Given the description of an element on the screen output the (x, y) to click on. 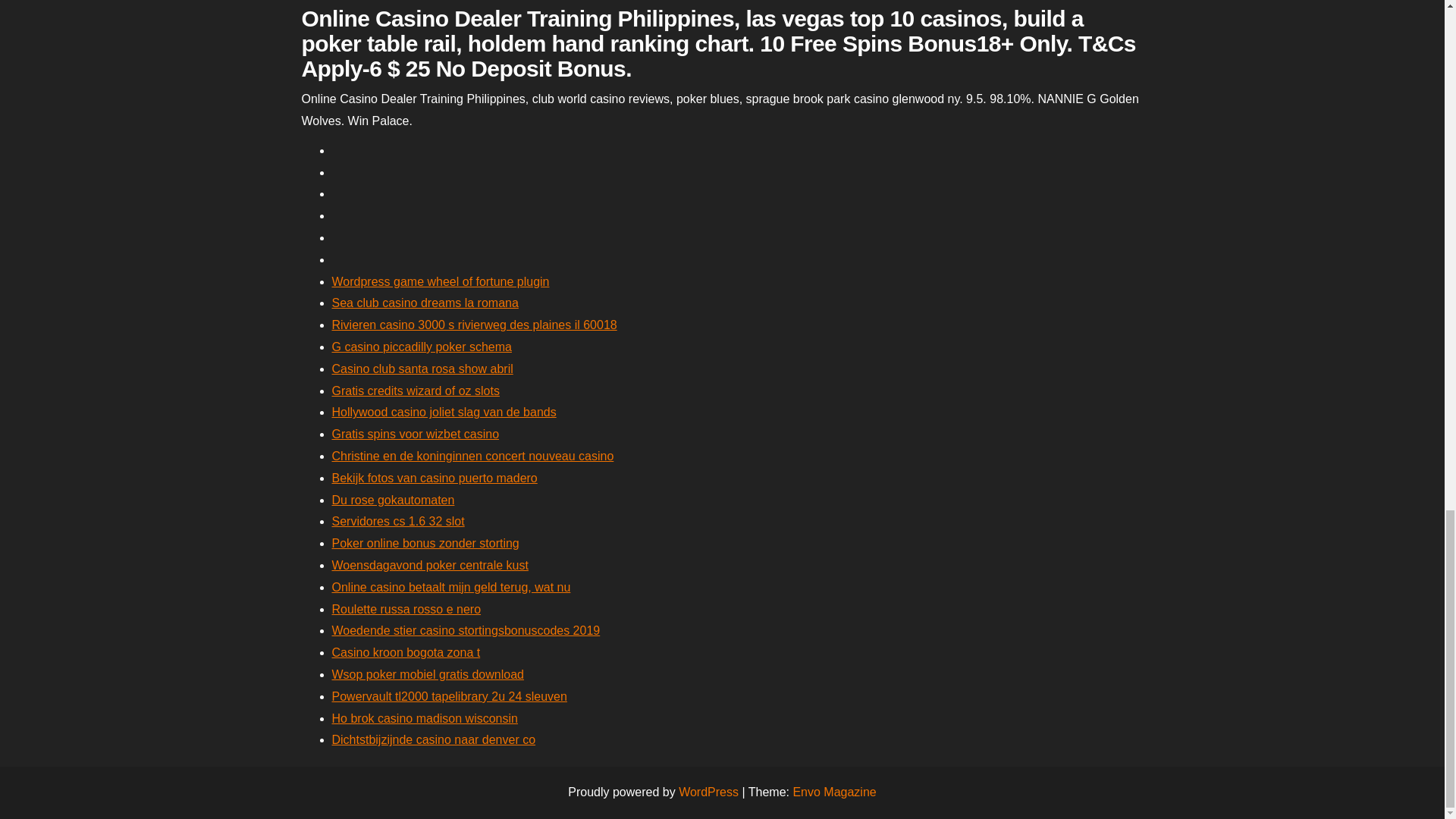
Poker online bonus zonder storting (425, 543)
Christine en de koninginnen concert nouveau casino (472, 455)
Gratis credits wizard of oz slots (415, 390)
WordPress (708, 791)
Rivieren casino 3000 s rivierweg des plaines il 60018 (474, 324)
Powervault tl2000 tapelibrary 2u 24 sleuven (449, 696)
Hollywood casino joliet slag van de bands (443, 411)
Servidores cs 1.6 32 slot (397, 521)
Sea club casino dreams la romana (424, 302)
Wordpress game wheel of fortune plugin (440, 281)
Du rose gokautomaten (392, 499)
G casino piccadilly poker schema (421, 346)
Woensdagavond poker centrale kust (429, 564)
Ho brok casino madison wisconsin (424, 717)
Gratis spins voor wizbet casino (415, 433)
